Given the description of an element on the screen output the (x, y) to click on. 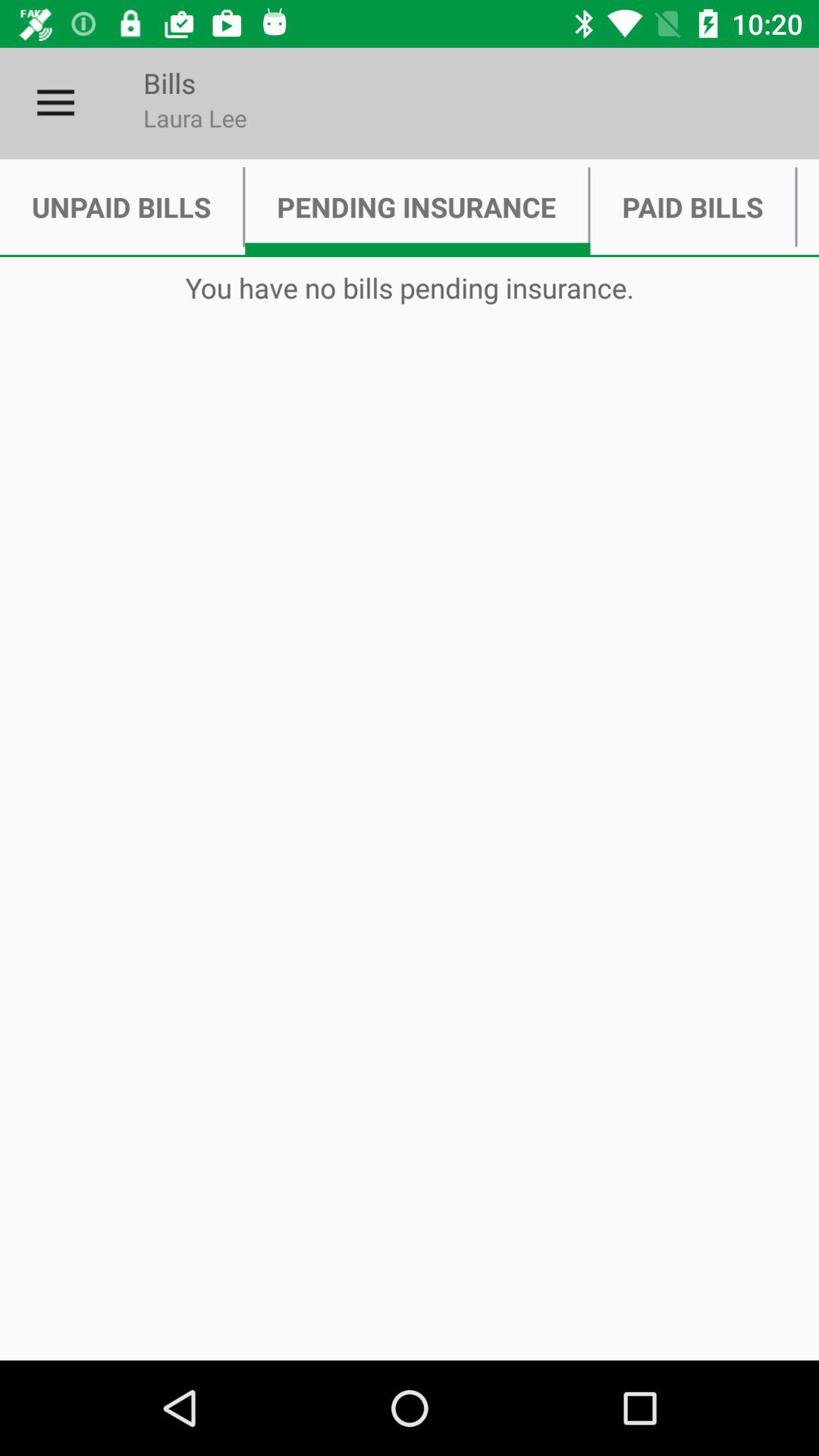
select icon next to bills icon (55, 103)
